Given the description of an element on the screen output the (x, y) to click on. 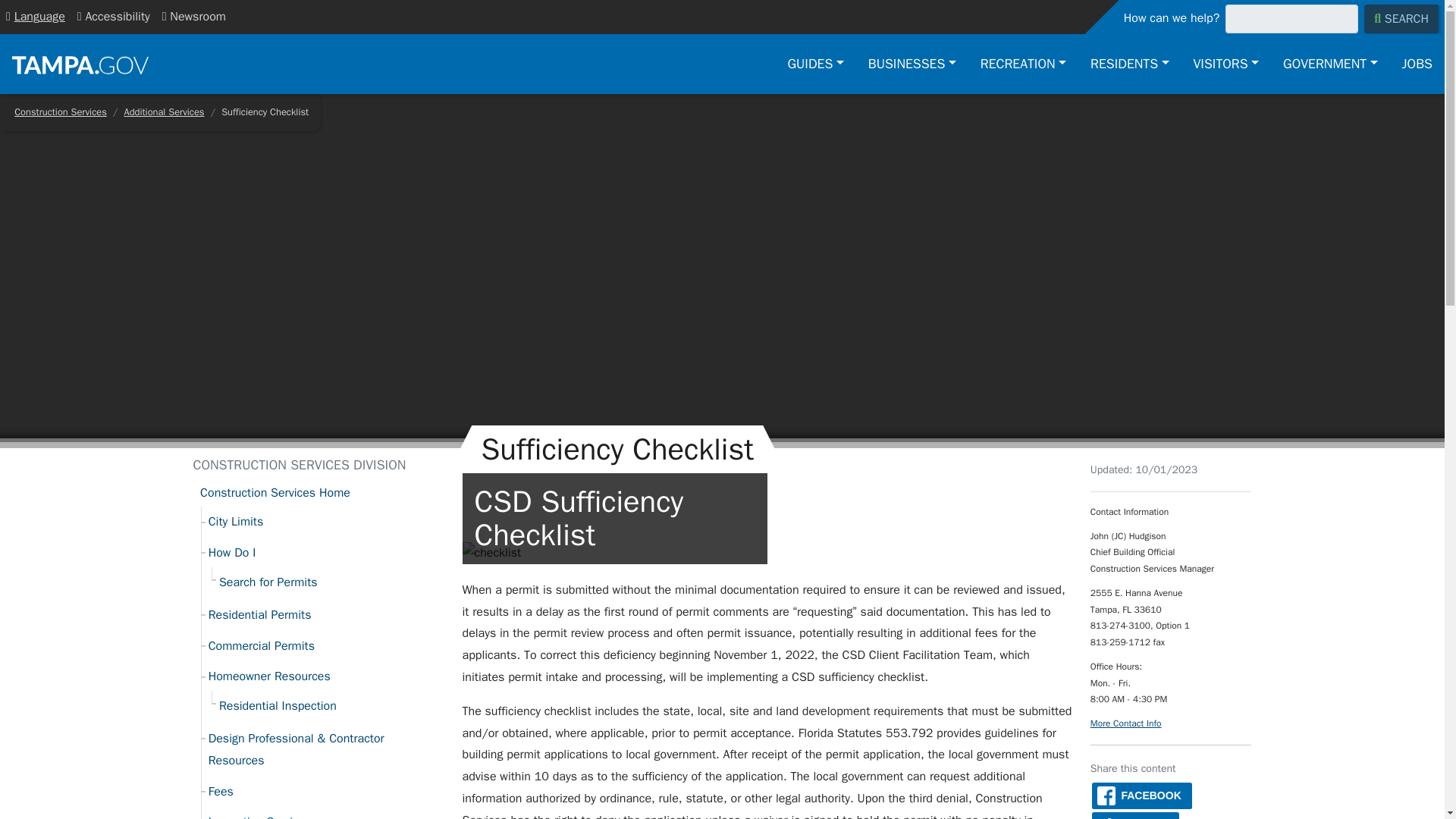
GUIDES (816, 64)
Language (35, 17)
Residential Permits (325, 615)
Accessibility (113, 17)
Newsroom (193, 17)
SEARCH (1401, 18)
Fees (325, 791)
Homeowner Resources (325, 676)
Resources for all contractors (325, 749)
